Given the description of an element on the screen output the (x, y) to click on. 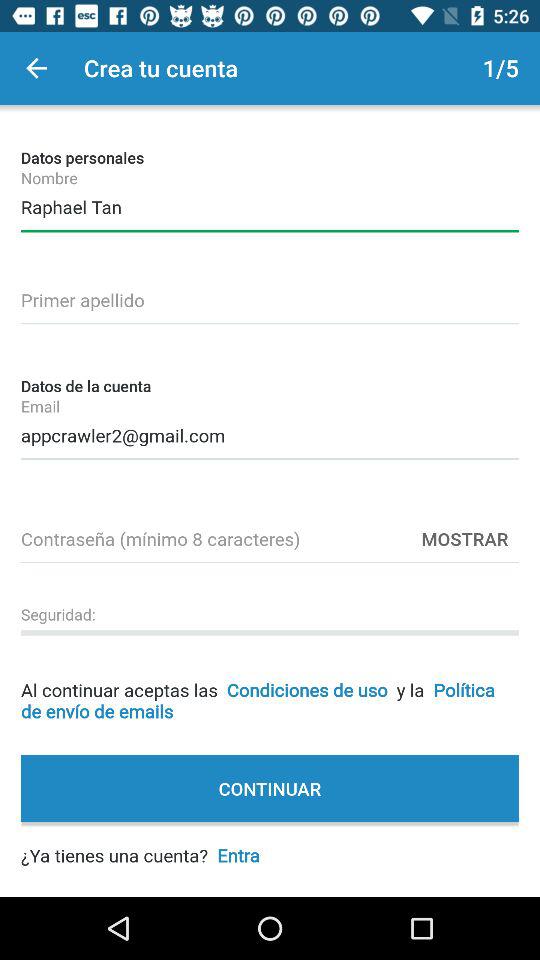
type password (270, 536)
